Given the description of an element on the screen output the (x, y) to click on. 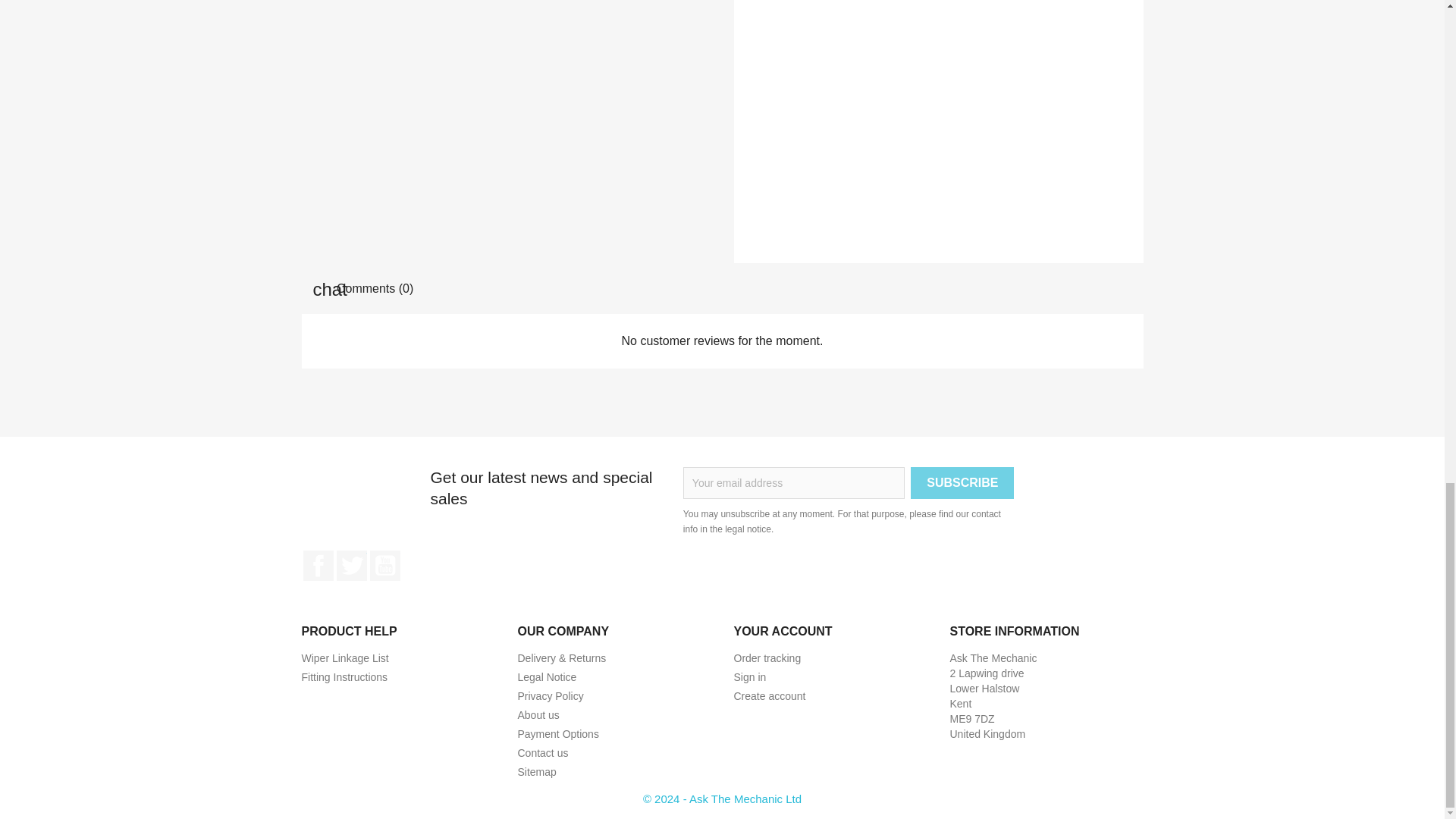
Learn more about us (537, 715)
Our secure payment method (557, 734)
Use our form to contact us (541, 752)
Subscribe (962, 482)
Our terms and conditions of use (549, 695)
Our terms and conditions of delivery (560, 657)
Legal notice (546, 676)
